Given the description of an element on the screen output the (x, y) to click on. 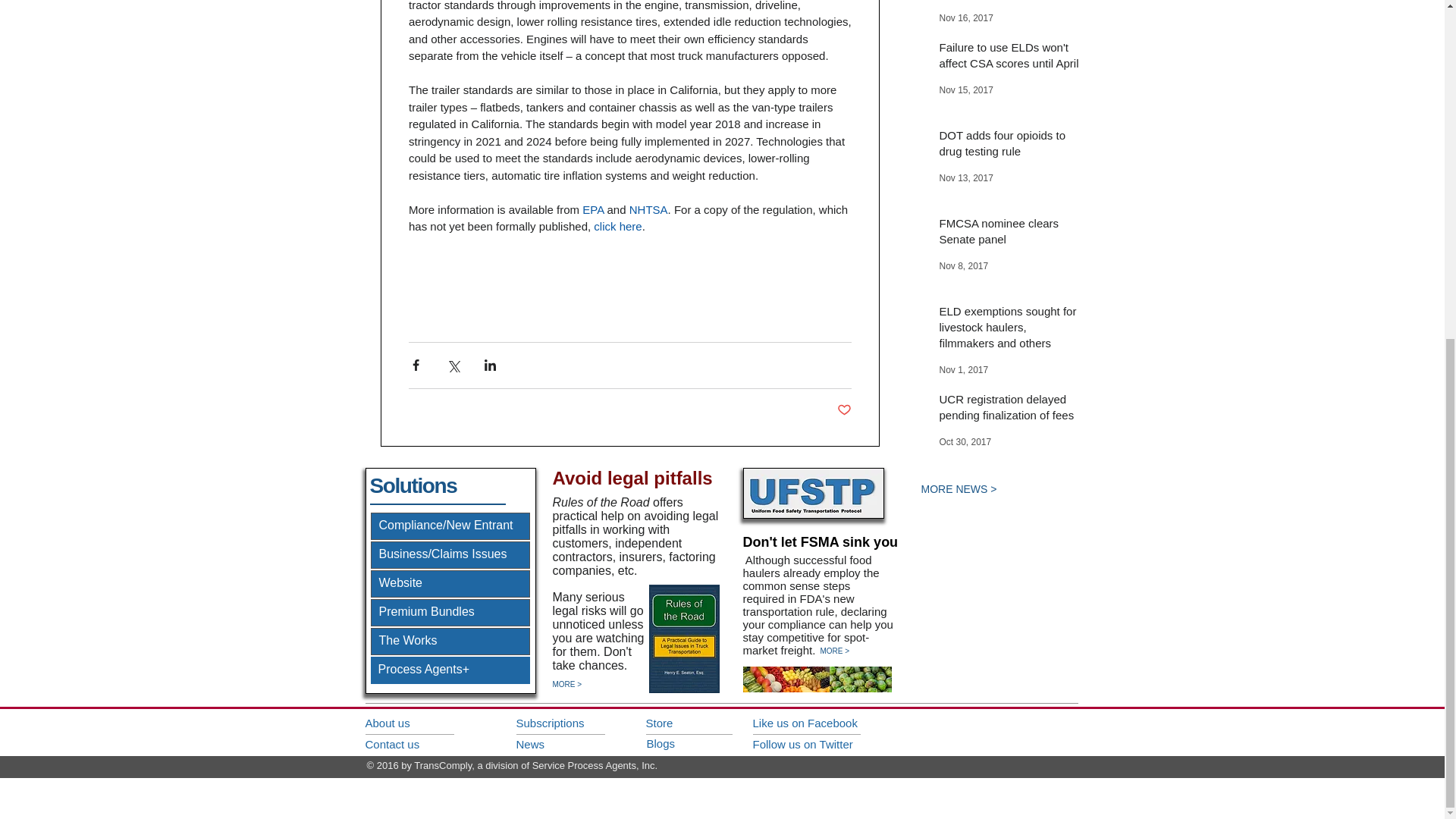
FMCSA nominee clears Senate panel (1009, 234)
Failure to use ELDs won't affect CSA scores until April (1009, 57)
UCR registration delayed pending finalization of fees (1009, 410)
Nov 13, 2017 (965, 177)
EPA (593, 209)
Don't let FSMA sink you (820, 540)
Website (449, 583)
EPA proposes to repeal emission standards on glider kits (1009, 2)
Nov 1, 2017 (963, 369)
